Given the description of an element on the screen output the (x, y) to click on. 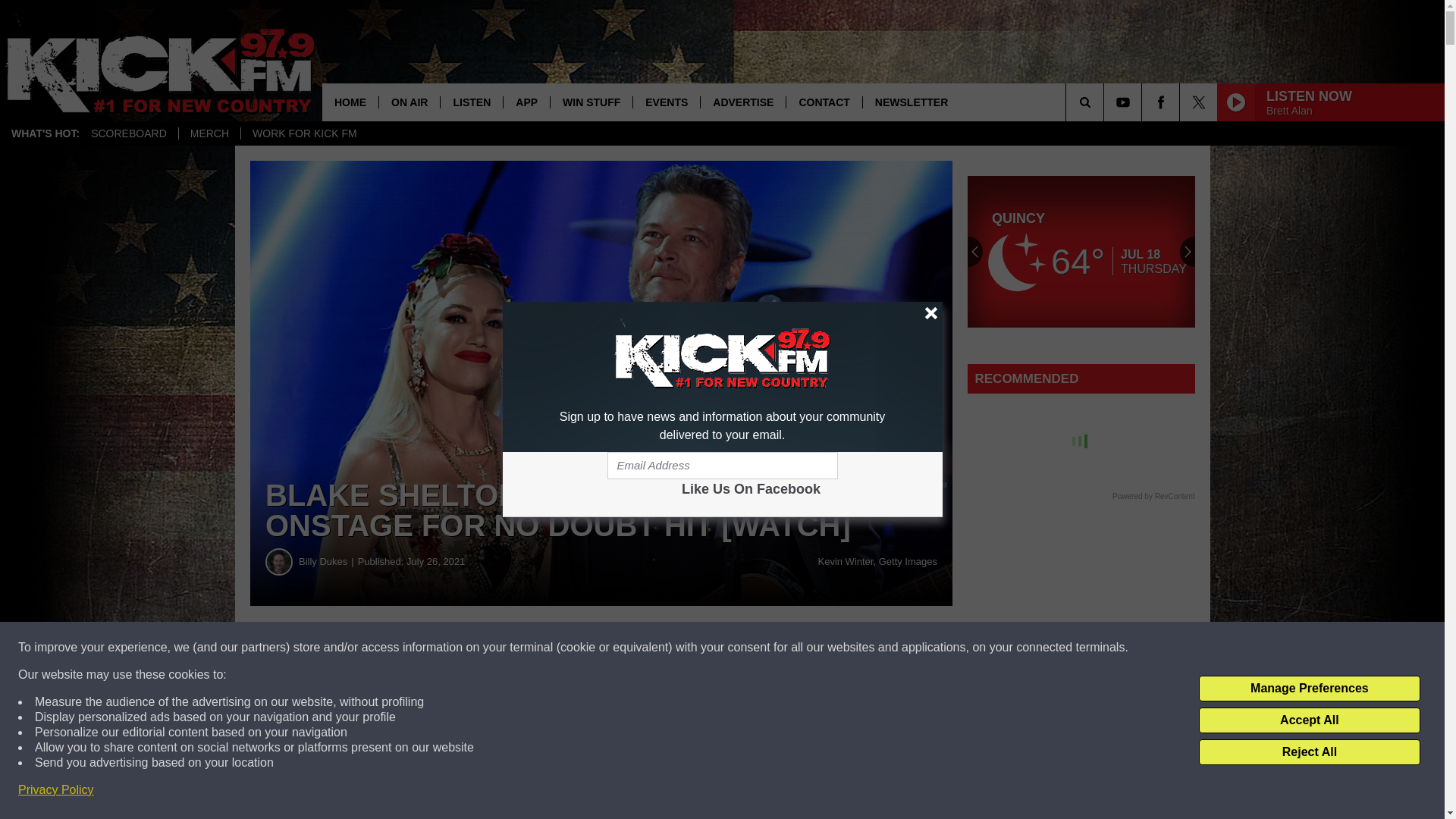
Share on Facebook (460, 647)
ON AIR (408, 102)
Quincy Weather (1081, 251)
SEARCH (1106, 102)
Privacy Policy (55, 789)
CONTACT (823, 102)
WORK FOR KICK FM (304, 133)
Manage Preferences (1309, 688)
MERCH (208, 133)
EVENTS (665, 102)
SCOREBOARD (128, 133)
Email Address (722, 465)
HOME (349, 102)
APP (526, 102)
SEARCH (1106, 102)
